Given the description of an element on the screen output the (x, y) to click on. 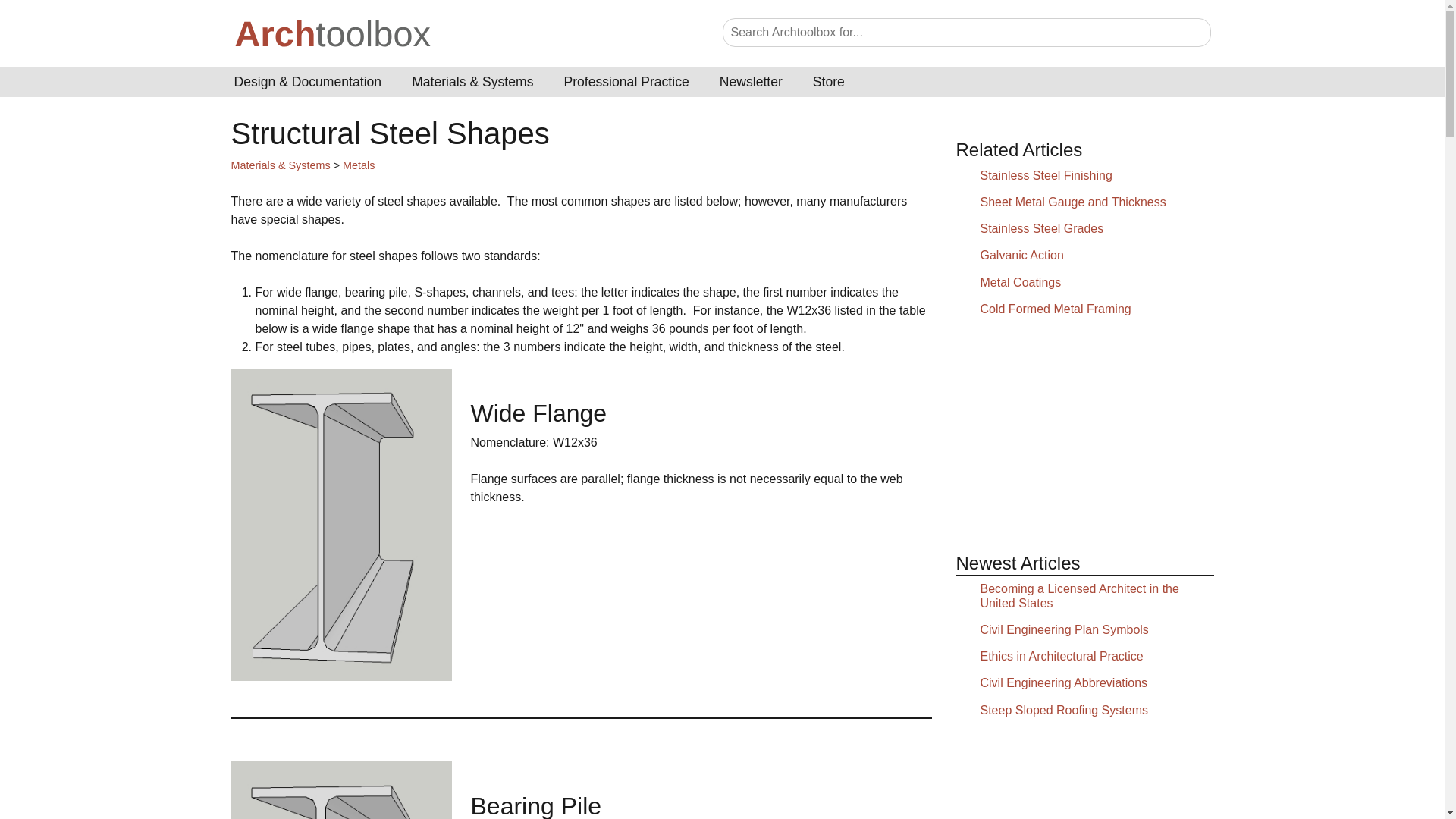
Sheet Metal Gauge and Thickness (1072, 201)
Store (828, 81)
Newsletter (750, 81)
Stainless Steel Grades (1041, 228)
Professional Practice (625, 81)
Metals (358, 164)
Galvanic Action (1020, 254)
Search theIOTpad for... (965, 32)
Stainless Steel Finishing (1045, 174)
